Given the description of an element on the screen output the (x, y) to click on. 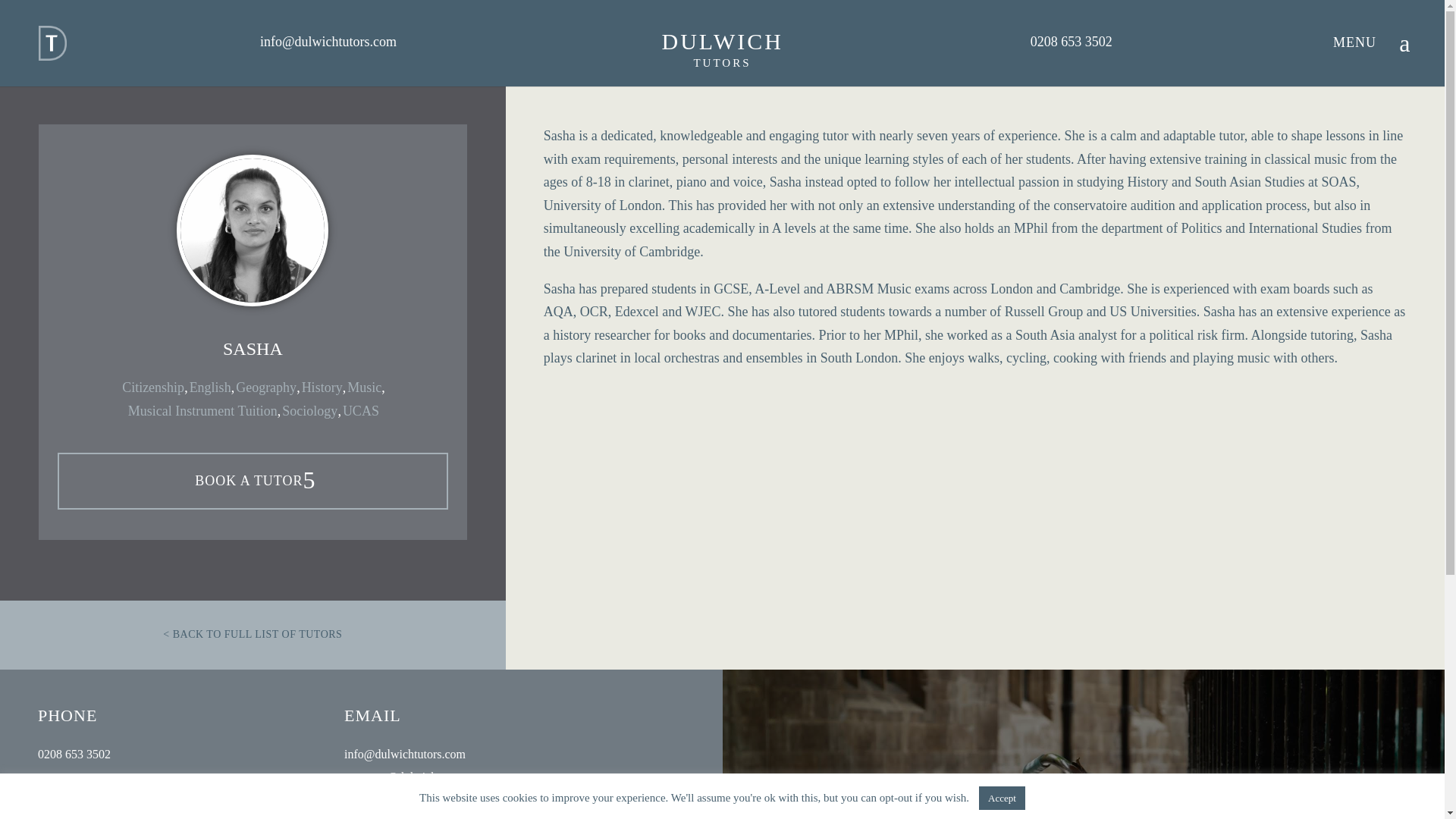
View all posts in Citizenship (153, 387)
Musical Instrument Tuition (203, 411)
View all posts in English (210, 387)
Sociology (309, 411)
Music (364, 387)
View all posts in Music (364, 387)
English (210, 387)
View all posts in Sociology (309, 411)
View all posts in Geography (266, 387)
Geography (266, 387)
View all posts in Musical Instrument Tuition (203, 411)
Sasha ID Image copy (252, 230)
View all posts in History (321, 387)
History (321, 387)
Citizenship (153, 387)
